Given the description of an element on the screen output the (x, y) to click on. 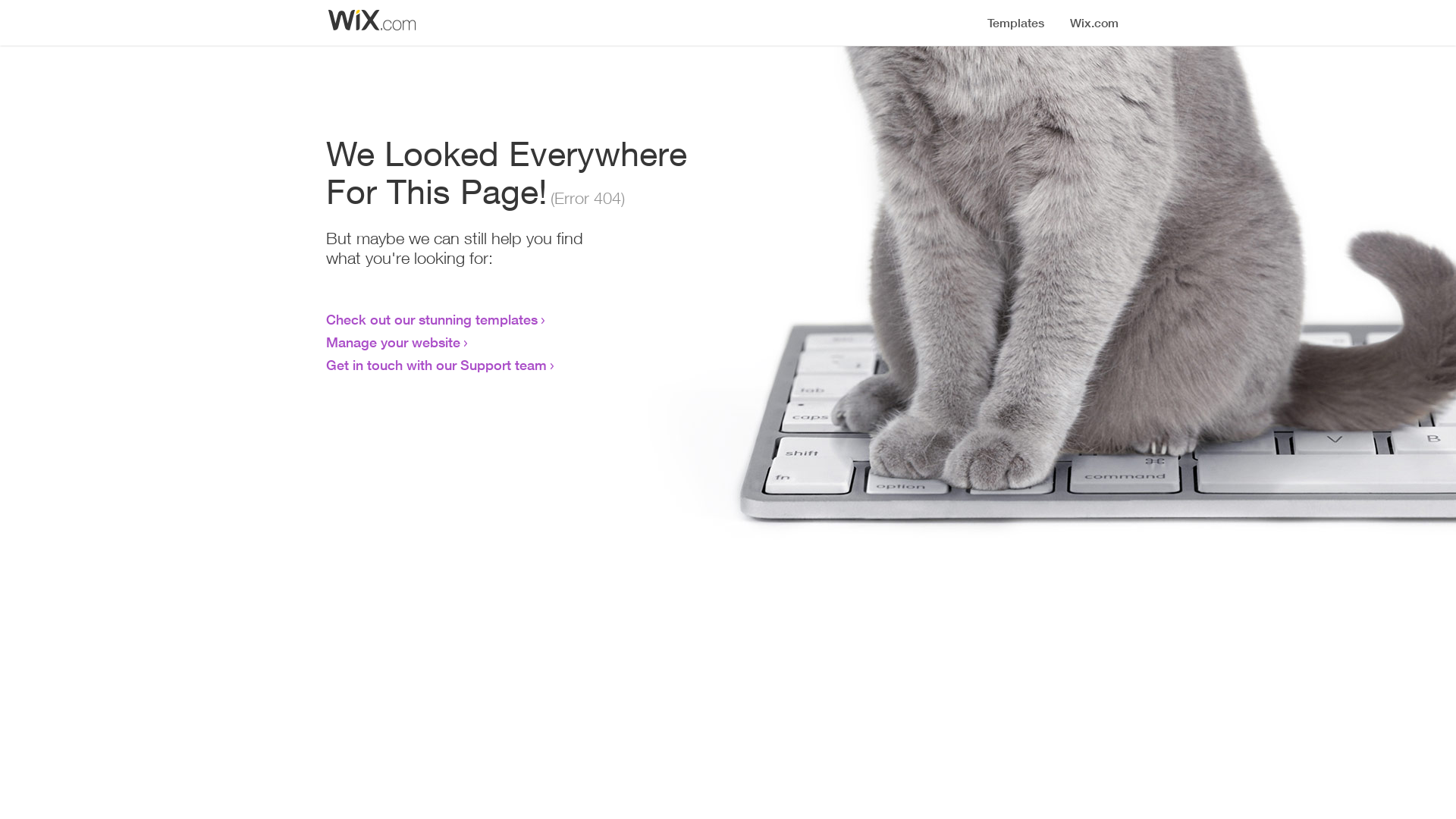
Check out our stunning templates Element type: text (431, 318)
Manage your website Element type: text (393, 341)
Get in touch with our Support team Element type: text (436, 364)
